Given the description of an element on the screen output the (x, y) to click on. 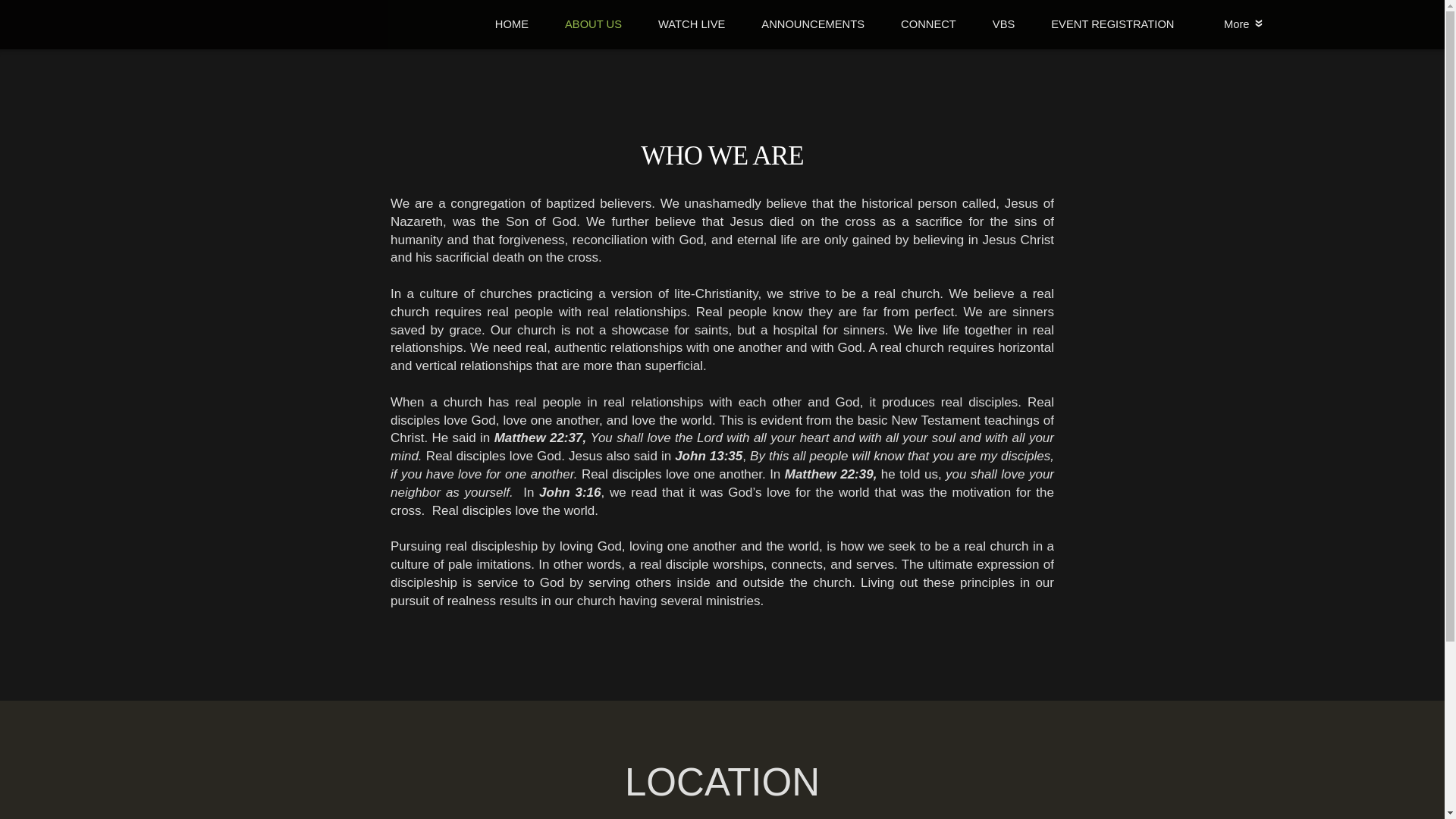
EVENT REGISTRATION (1112, 24)
ANNOUNCEMENTS (812, 24)
HOME (512, 24)
ABOUT US (593, 24)
CONNECT (928, 24)
WATCH LIVE (691, 24)
VBS (1003, 24)
